Given the description of an element on the screen output the (x, y) to click on. 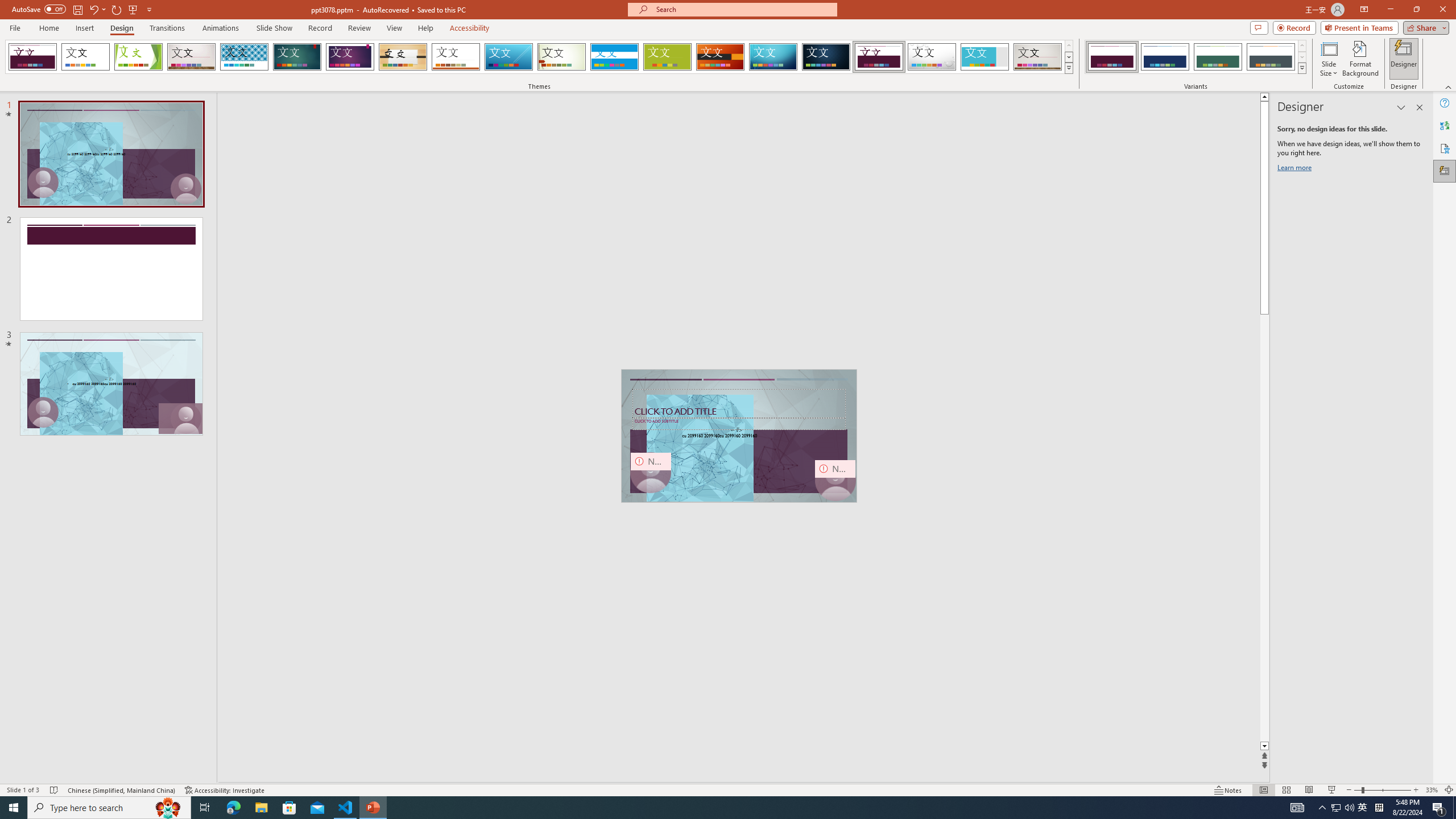
Camera 9, No camera detected. (650, 472)
Facet (138, 56)
AutomationID: SlideThemesGallery (539, 56)
Wisp (561, 56)
From Beginning (133, 9)
Minimize (1390, 9)
Zoom (1382, 790)
Insert (83, 28)
Variants (1301, 67)
An abstract genetic concept (738, 435)
Class: MsoCommandBar (728, 789)
Review (359, 28)
View (395, 28)
Slide Show (273, 28)
Gallery (1037, 56)
